Given the description of an element on the screen output the (x, y) to click on. 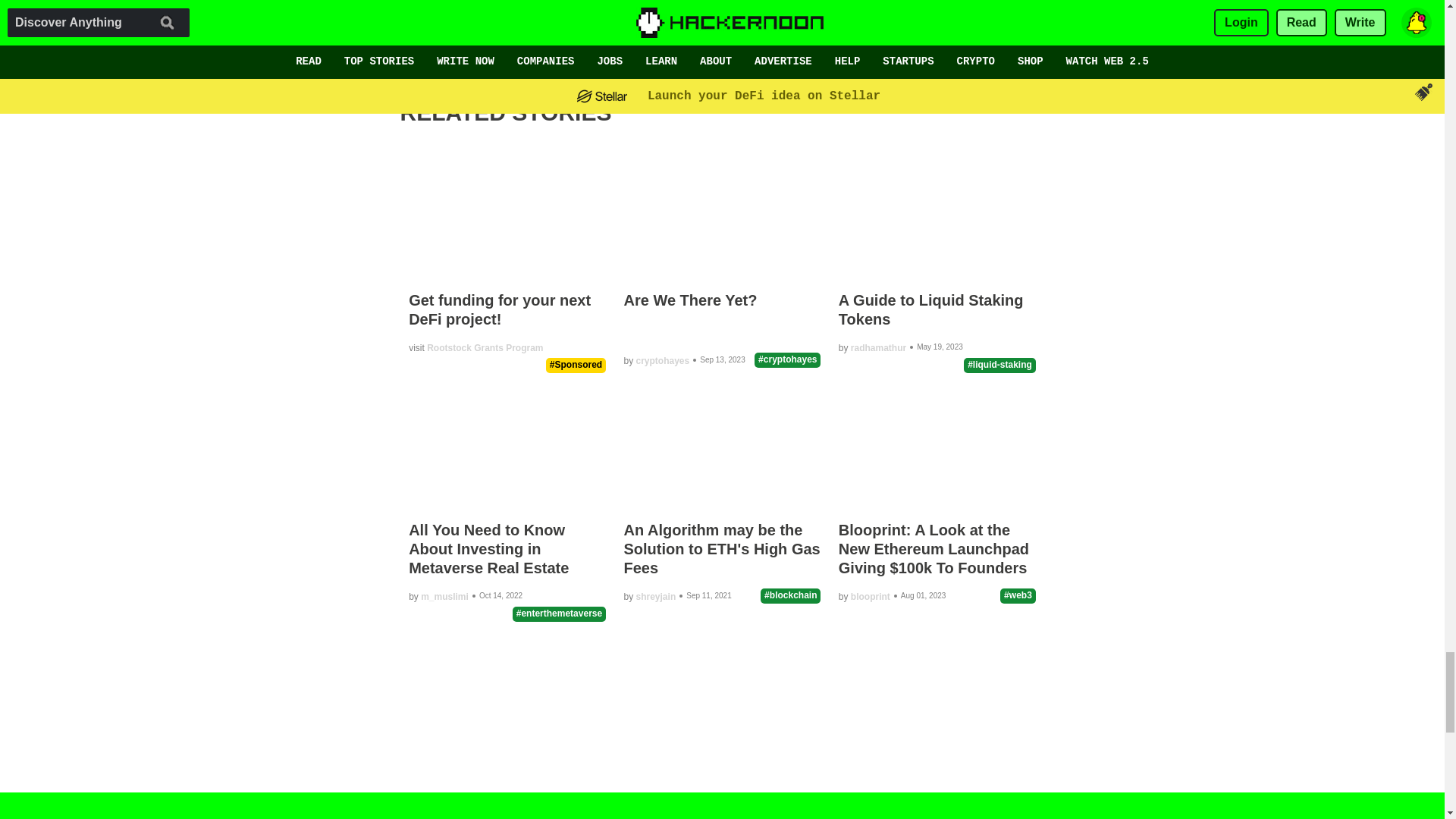
thestory (475, 32)
